Given the description of an element on the screen output the (x, y) to click on. 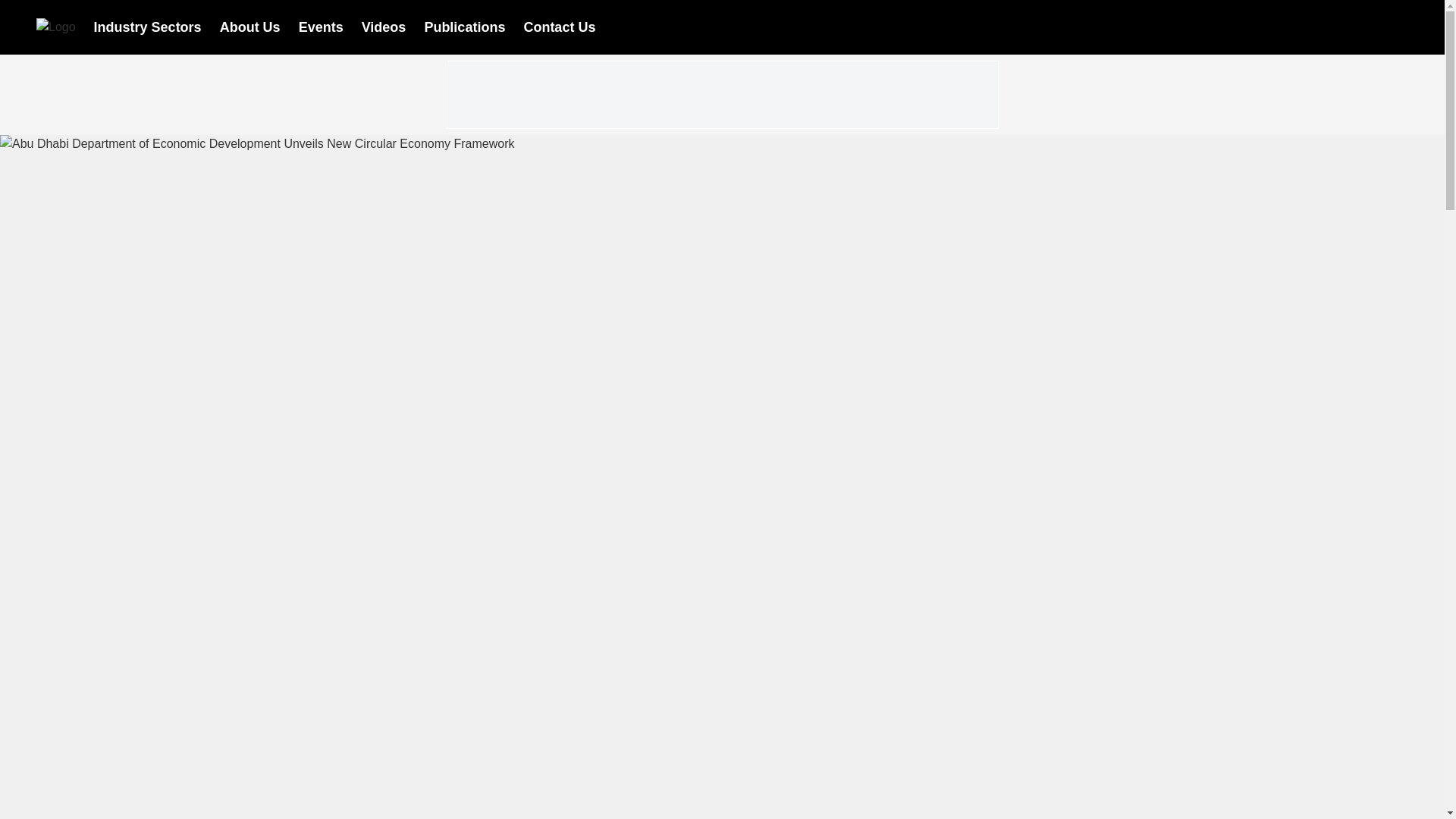
About Us (250, 26)
Contact Us (558, 26)
